Given the description of an element on the screen output the (x, y) to click on. 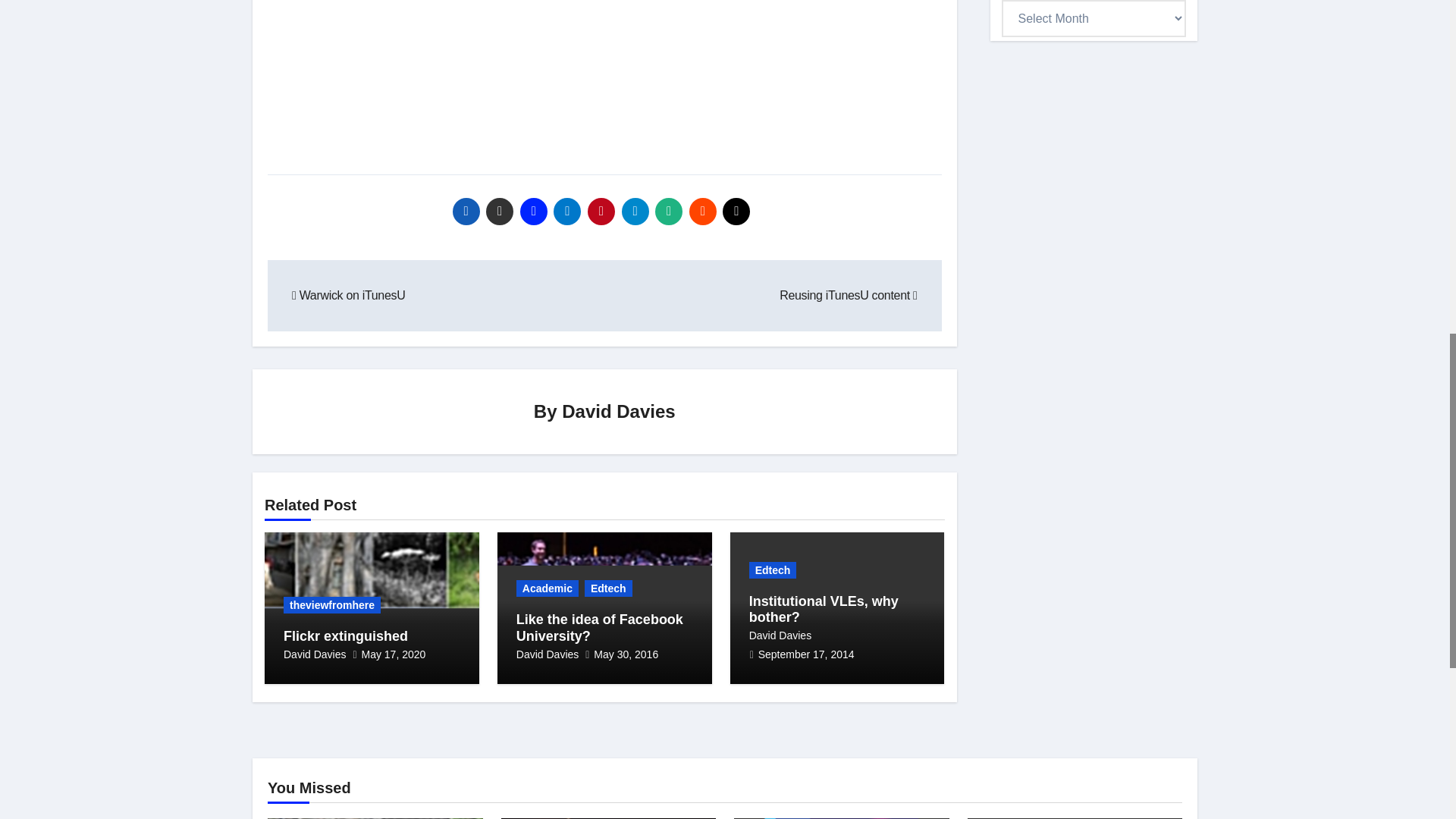
Warwick on iTunesU (348, 295)
theviewfromhere (331, 605)
David Davies (314, 654)
Flickr extinguished (345, 635)
David Davies (618, 411)
Permalink to: Flickr extinguished (345, 635)
Permalink to: Like the idea of Facebook University? (599, 627)
Permalink to: Institutional VLEs, why bother? (823, 609)
Reusing iTunesU content (847, 295)
